Given the description of an element on the screen output the (x, y) to click on. 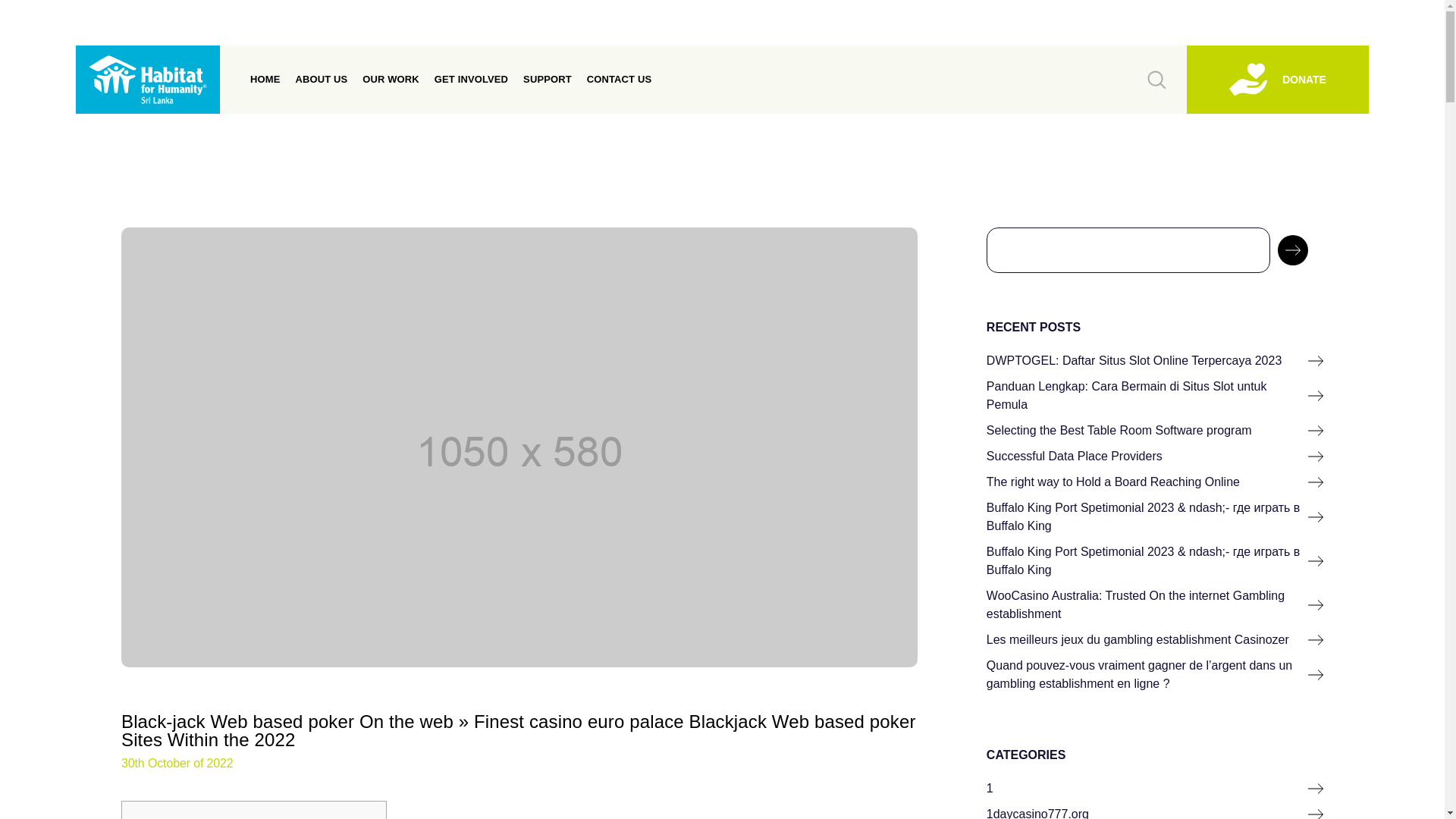
Habitat (147, 79)
